Given the description of an element on the screen output the (x, y) to click on. 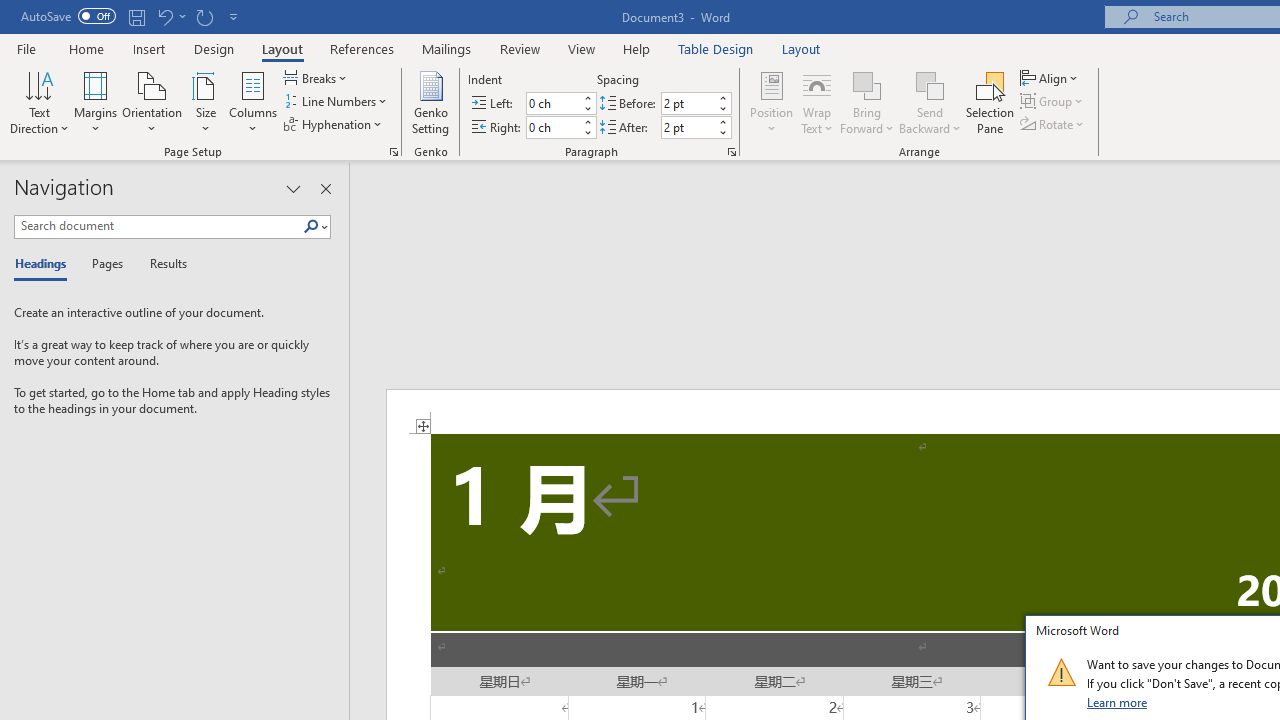
Less (722, 132)
Line Numbers (337, 101)
Margins (95, 102)
Hyphenation (334, 124)
Send Backward (930, 84)
Wrap Text (817, 102)
Breaks (317, 78)
